Given the description of an element on the screen output the (x, y) to click on. 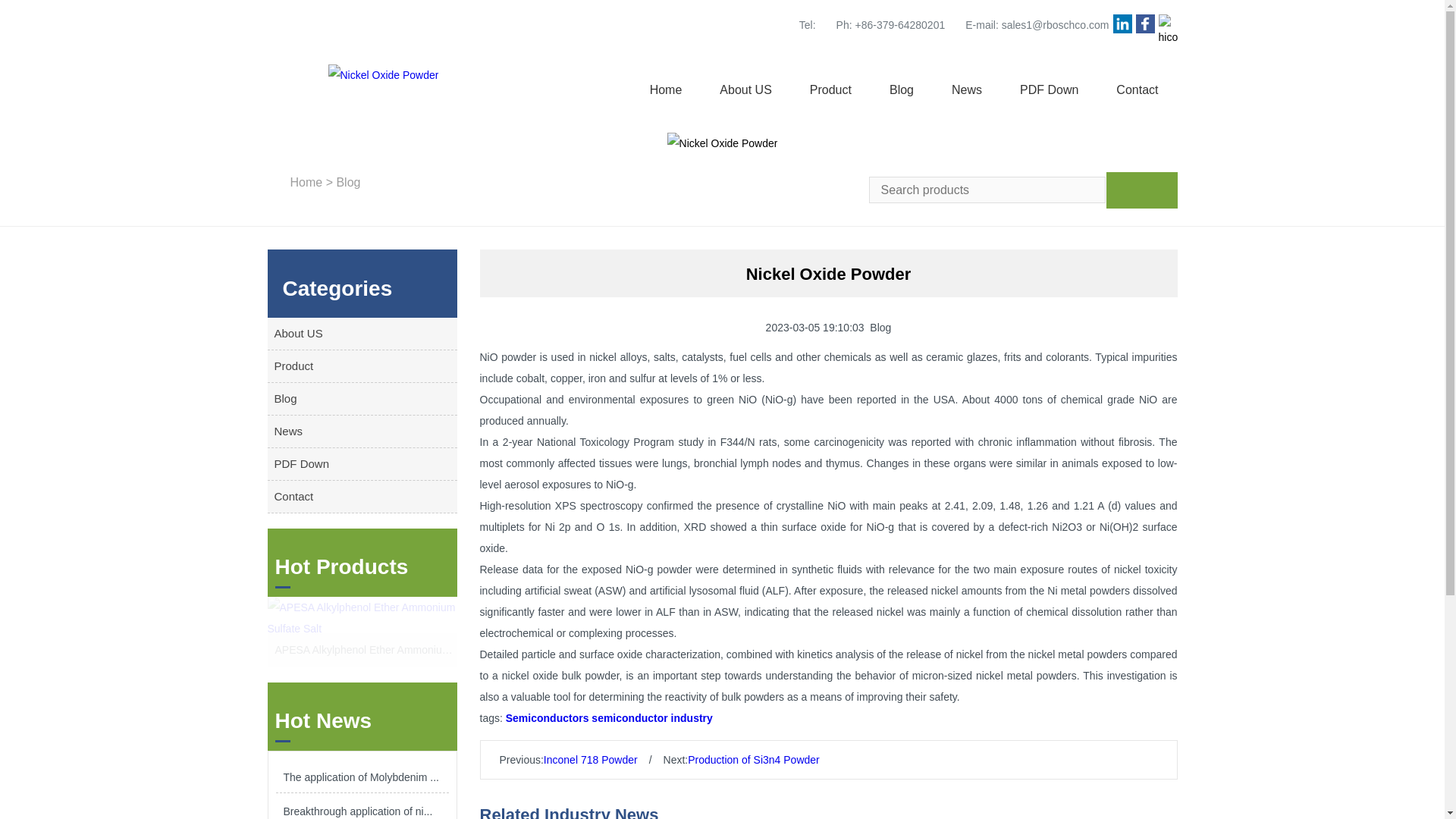
Blog (347, 182)
Nickel Oxide Powder (382, 74)
Product (830, 90)
Home (665, 90)
About US (745, 90)
About US (361, 333)
Blog (361, 399)
Contact (1136, 90)
Blog (901, 90)
PDF Down (1049, 90)
